Given the description of an element on the screen output the (x, y) to click on. 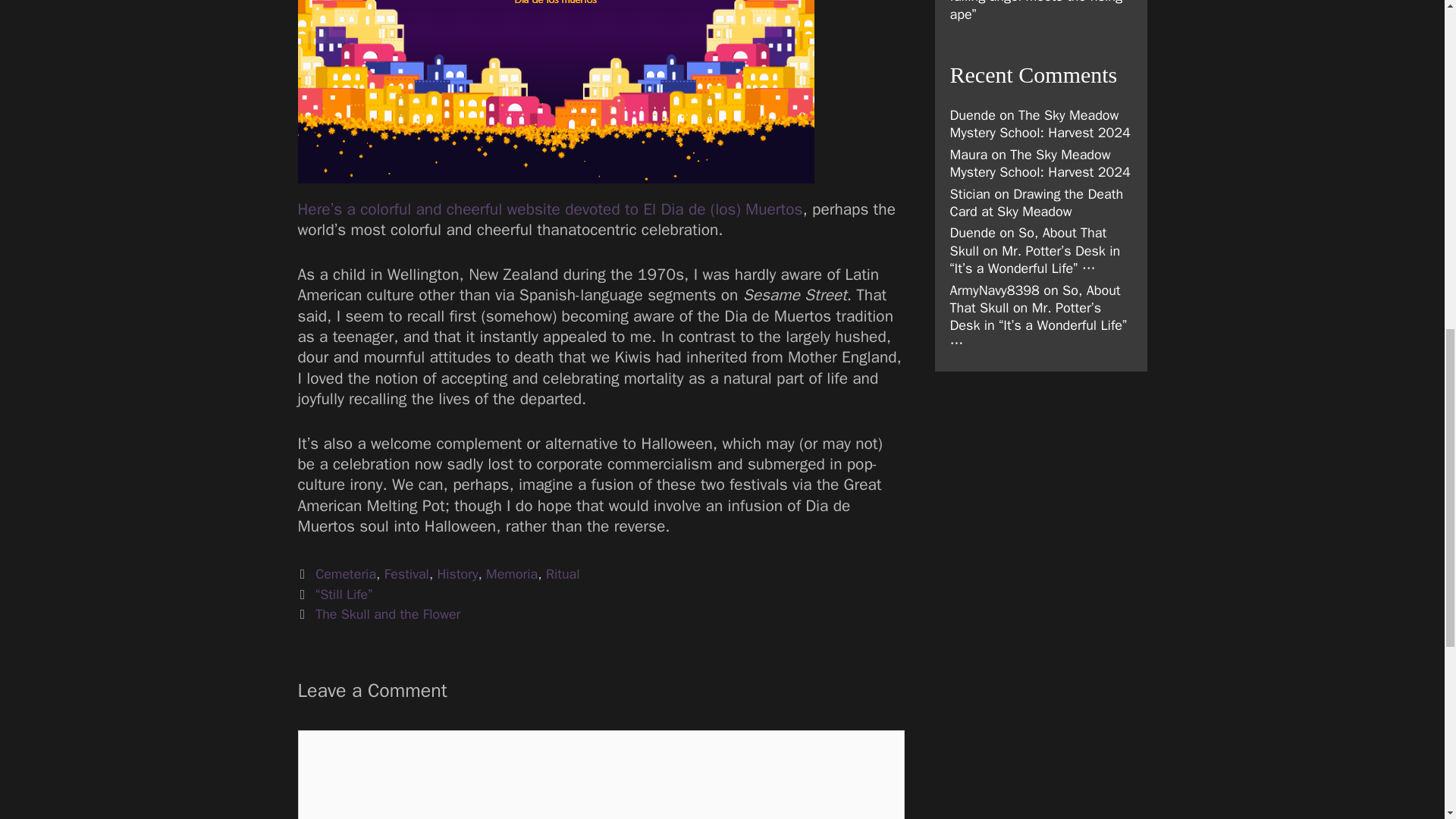
Previous (334, 594)
Next (378, 614)
Cemeteria (345, 573)
Festival (406, 573)
